Given the description of an element on the screen output the (x, y) to click on. 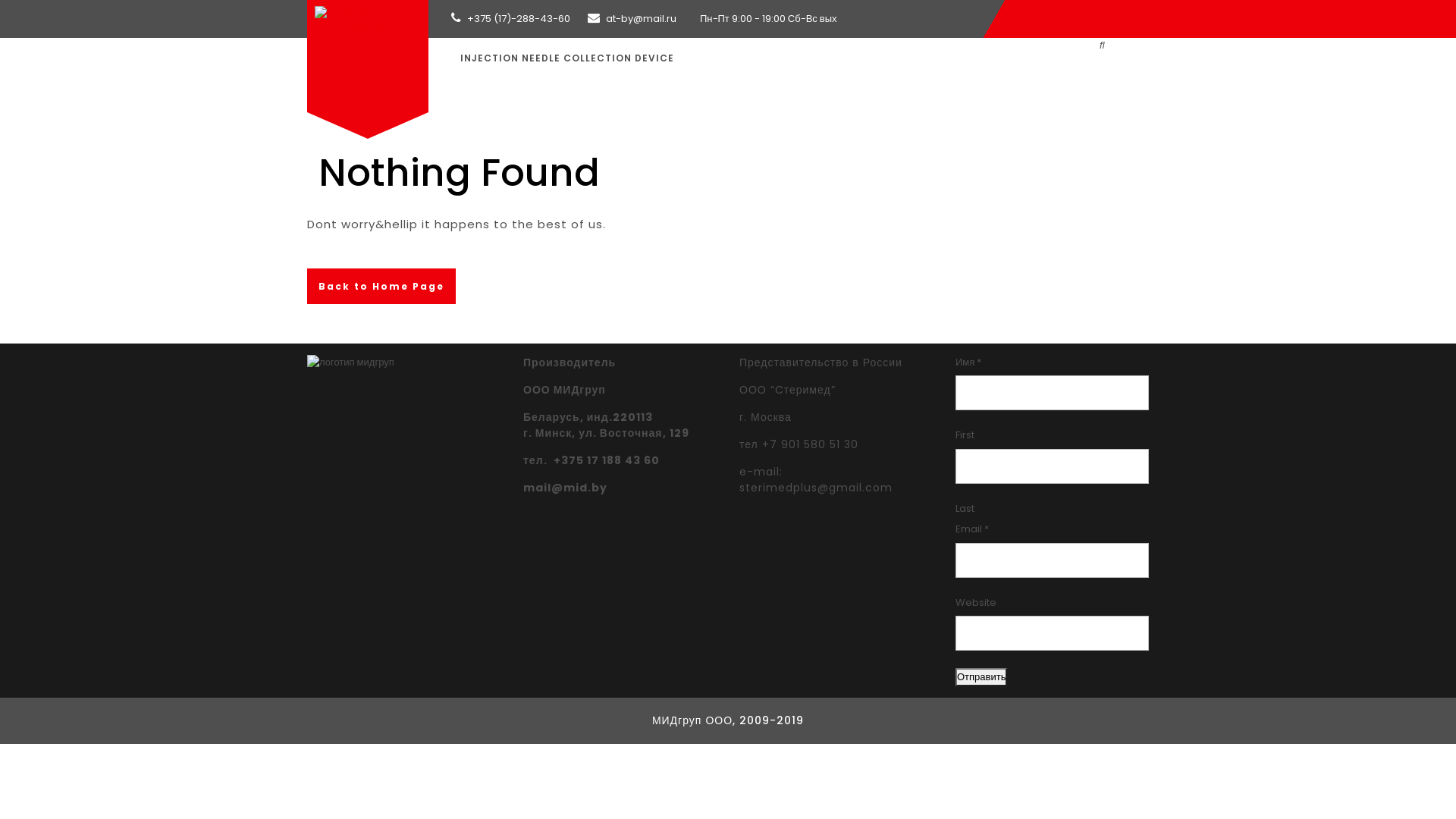
Back to Home Page Element type: text (381, 286)
INJECTION NEEDLE COLLECTION DEVICE Element type: text (567, 57)
